Given the description of an element on the screen output the (x, y) to click on. 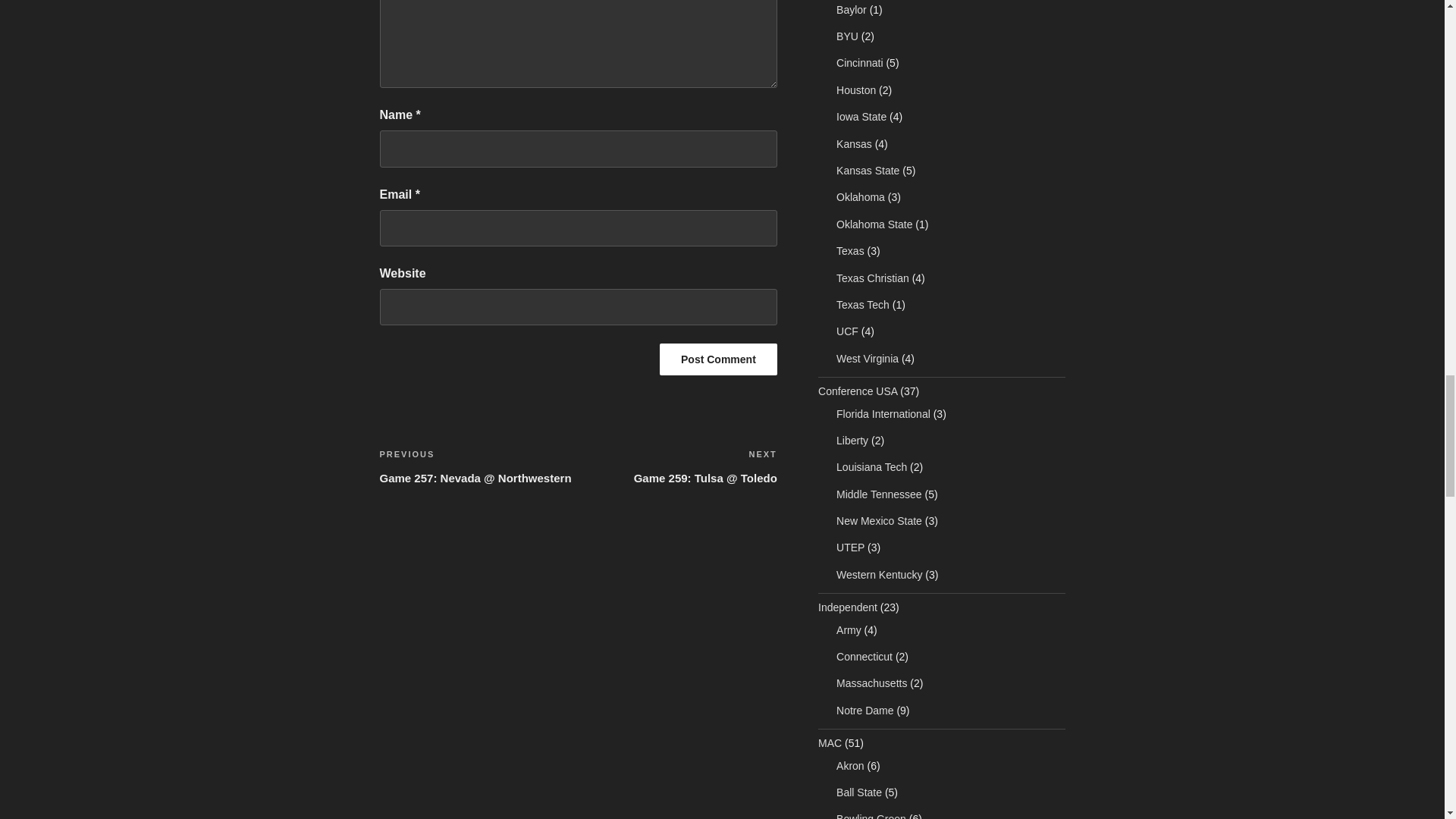
Post Comment (718, 359)
